Given the description of an element on the screen output the (x, y) to click on. 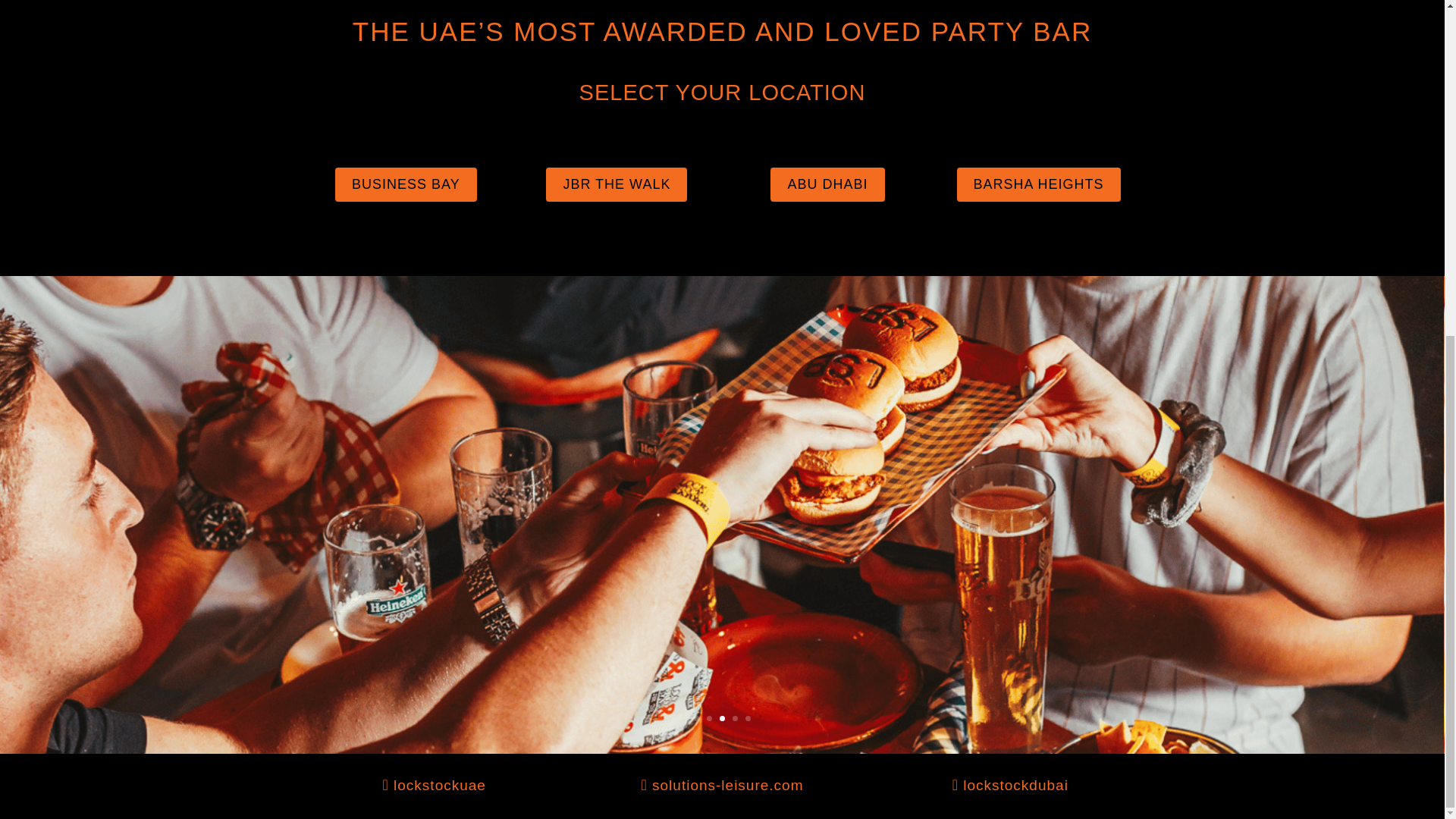
3 (722, 718)
JBR THE WALK (616, 184)
4 (735, 718)
BARSHA HEIGHTS (1038, 184)
ABU DHABI (826, 184)
5 (748, 718)
2 (708, 718)
BUSINESS BAY (405, 184)
